Given the description of an element on the screen output the (x, y) to click on. 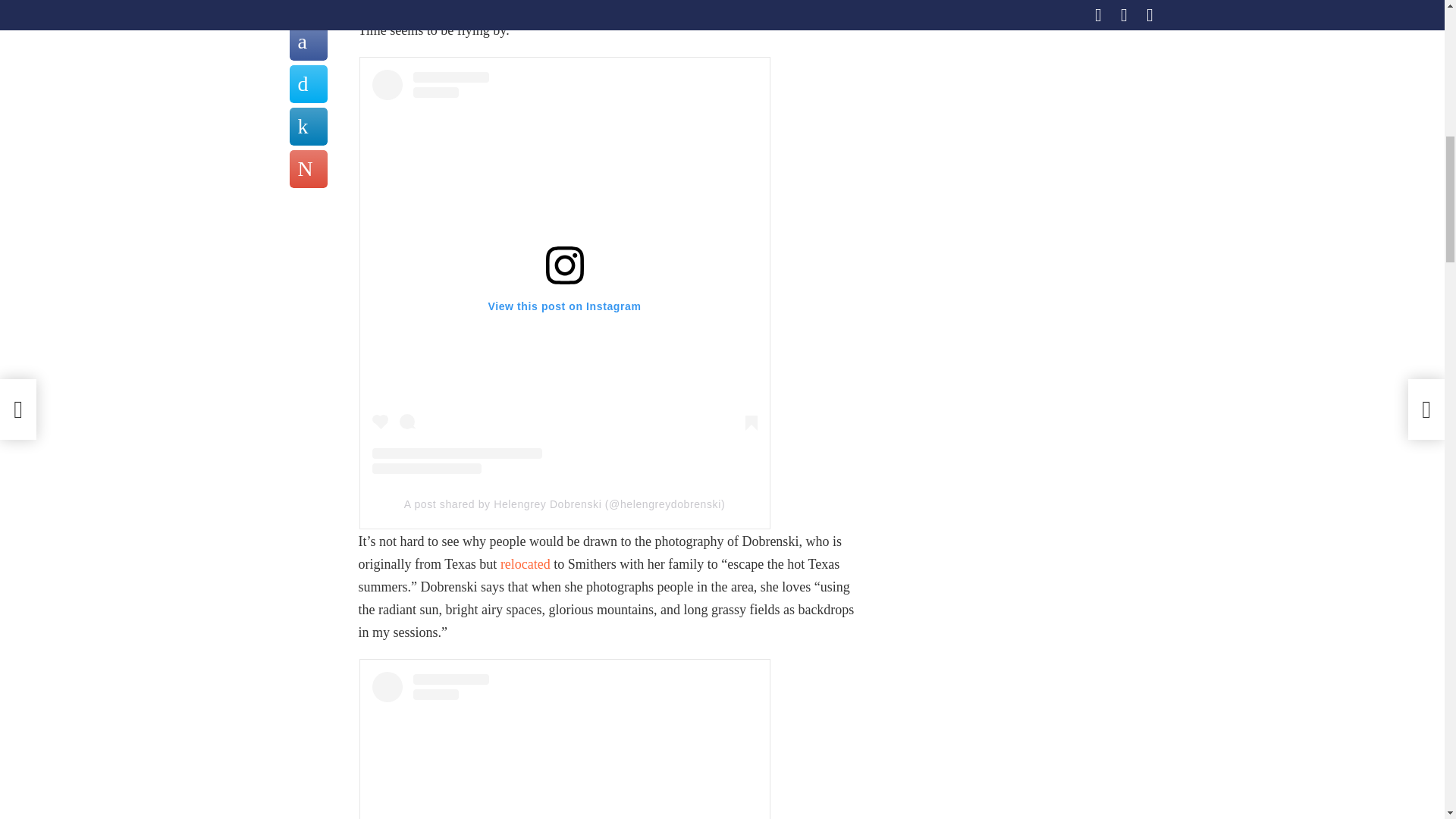
View this post on Instagram (564, 745)
relocated (525, 563)
